Given the description of an element on the screen output the (x, y) to click on. 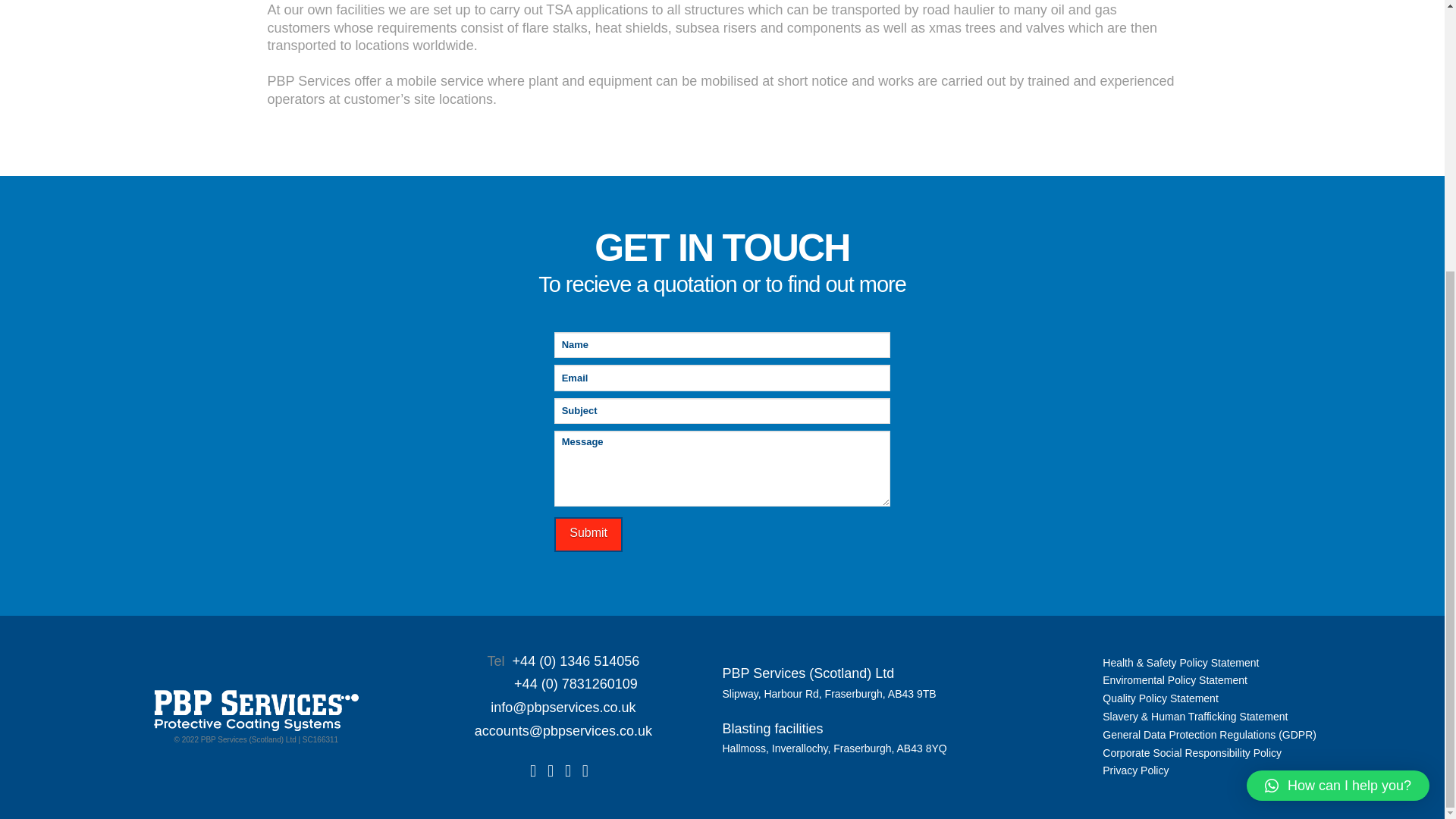
Submit (588, 534)
Enviromental Policy Statement (1174, 680)
Quality Policy Statement (1160, 698)
Submit (588, 534)
